Given the description of an element on the screen output the (x, y) to click on. 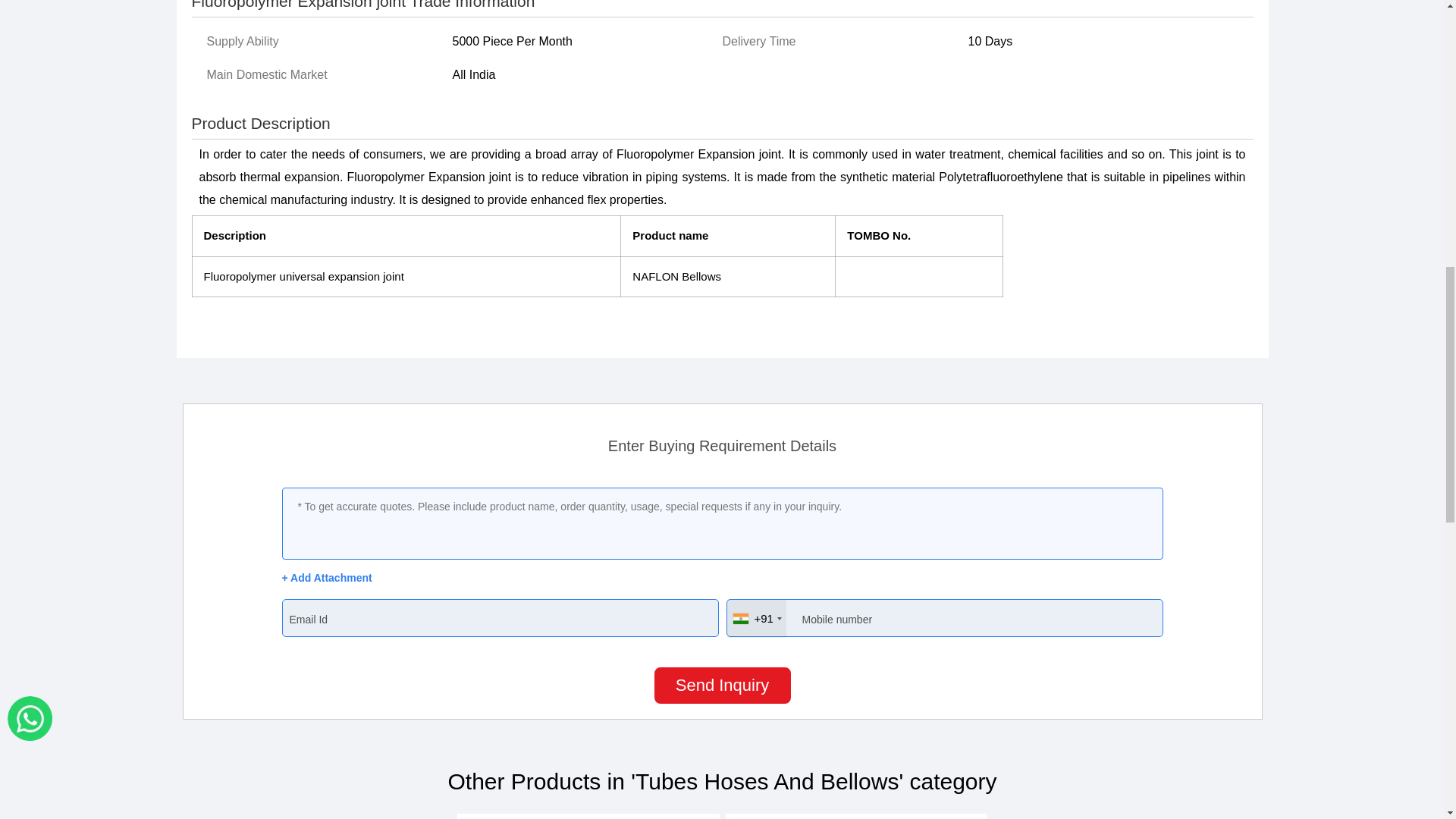
Send Inquiry (721, 685)
